Given the description of an element on the screen output the (x, y) to click on. 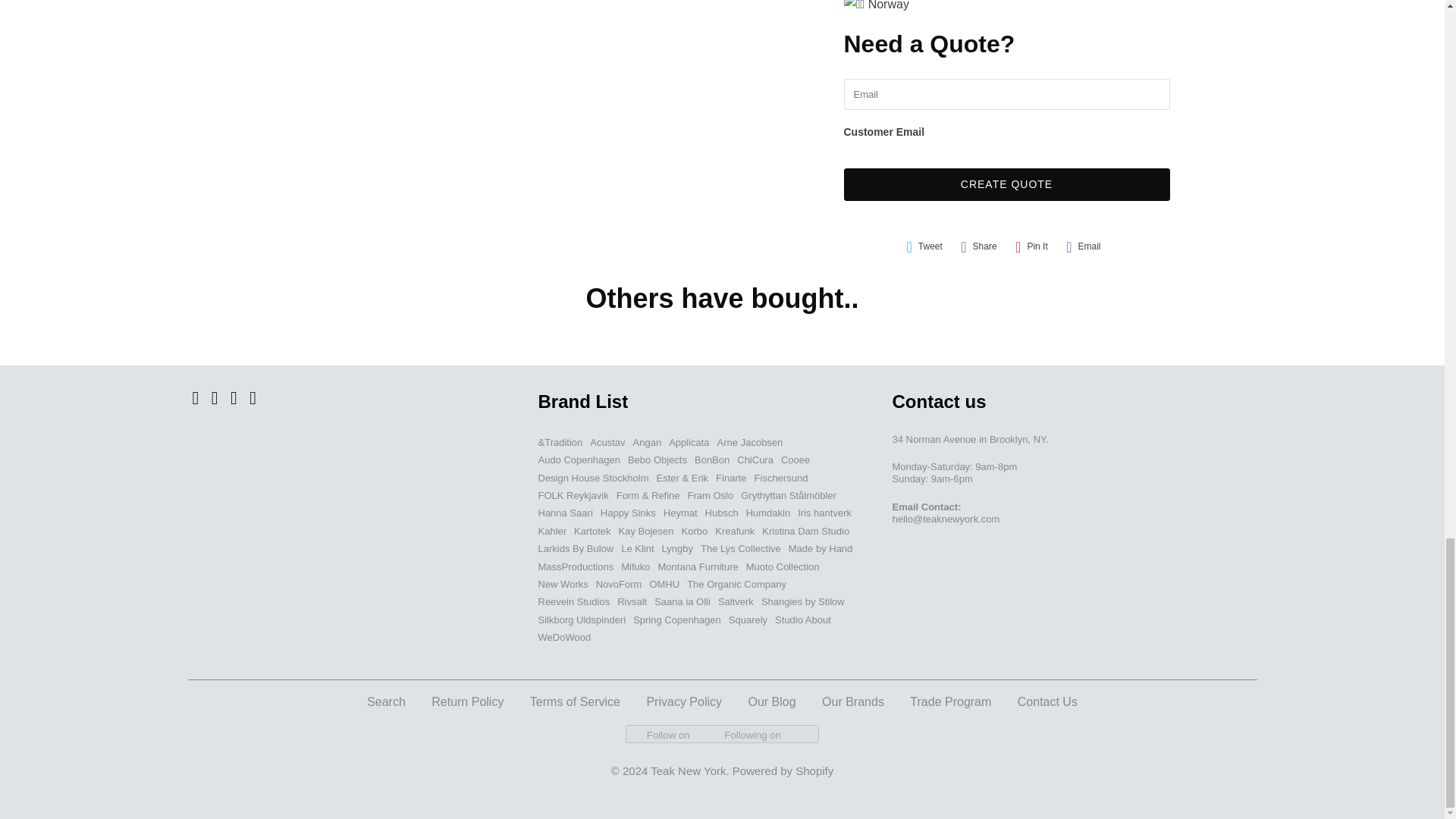
Share this on Twitter (923, 246)
Email this to a friend (1083, 246)
Share this on Facebook (978, 246)
Share this on Pinterest (1031, 246)
